Given the description of an element on the screen output the (x, y) to click on. 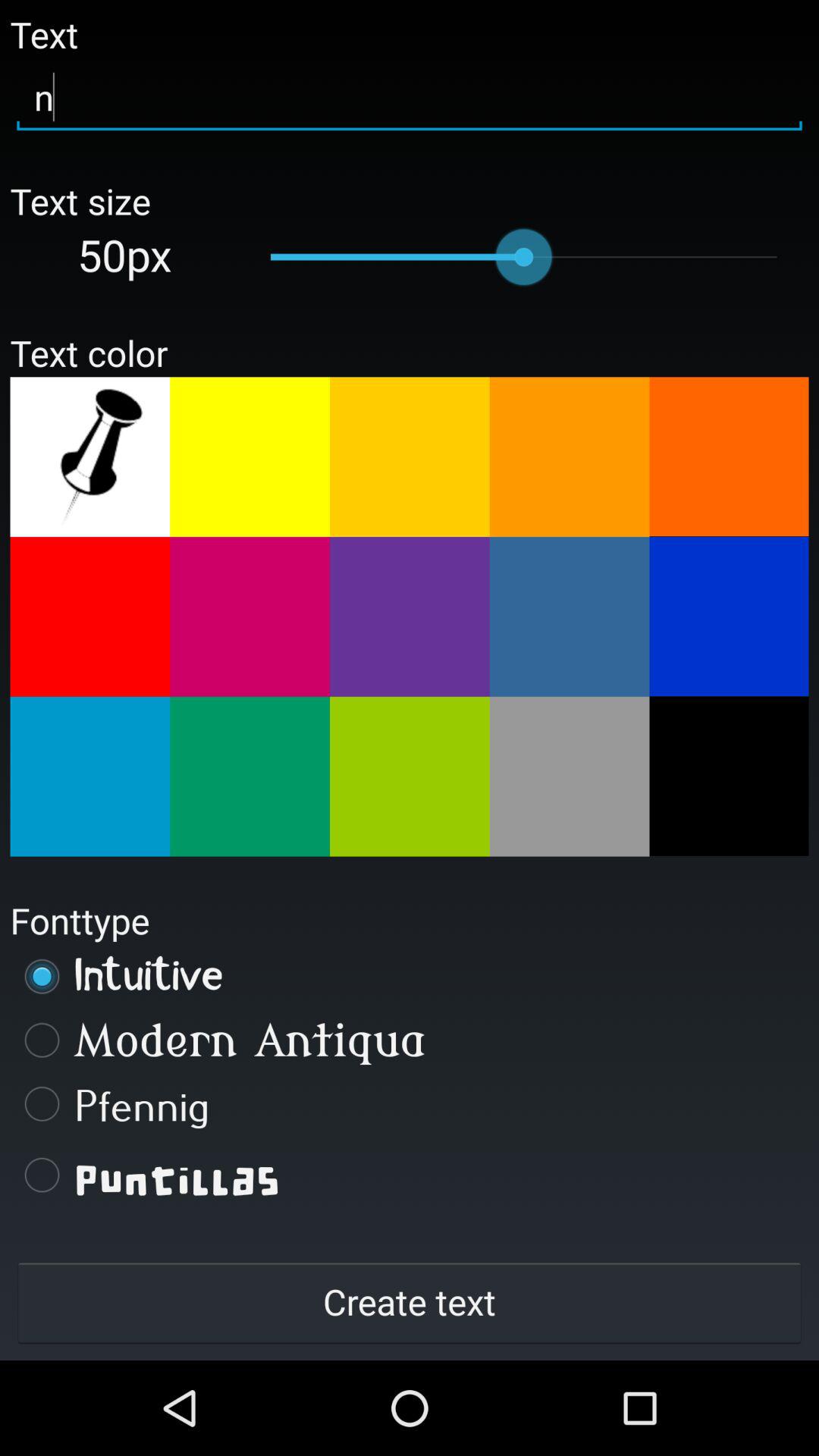
choose orange text color (409, 456)
